Given the description of an element on the screen output the (x, y) to click on. 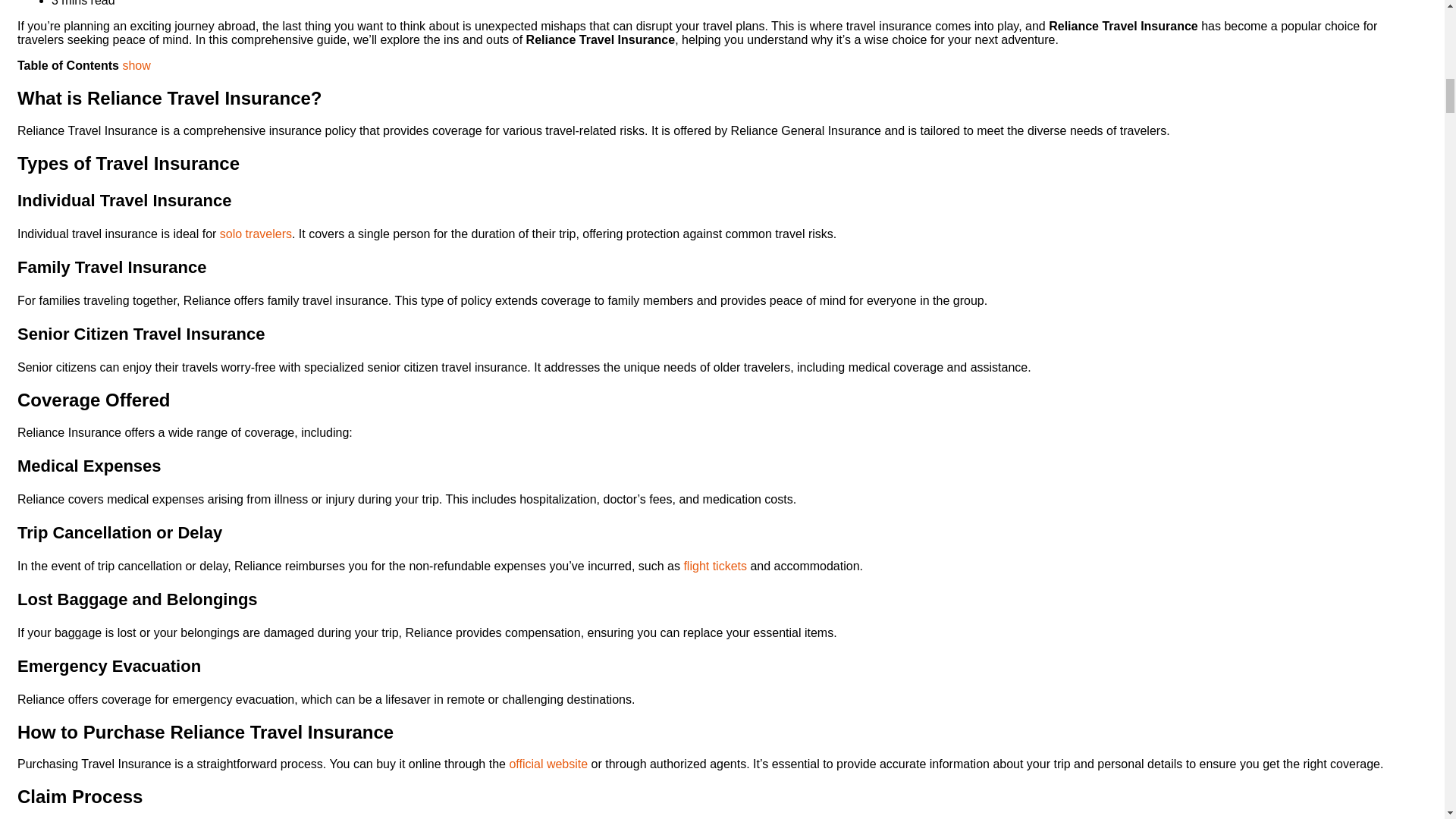
show (135, 65)
